Given the description of an element on the screen output the (x, y) to click on. 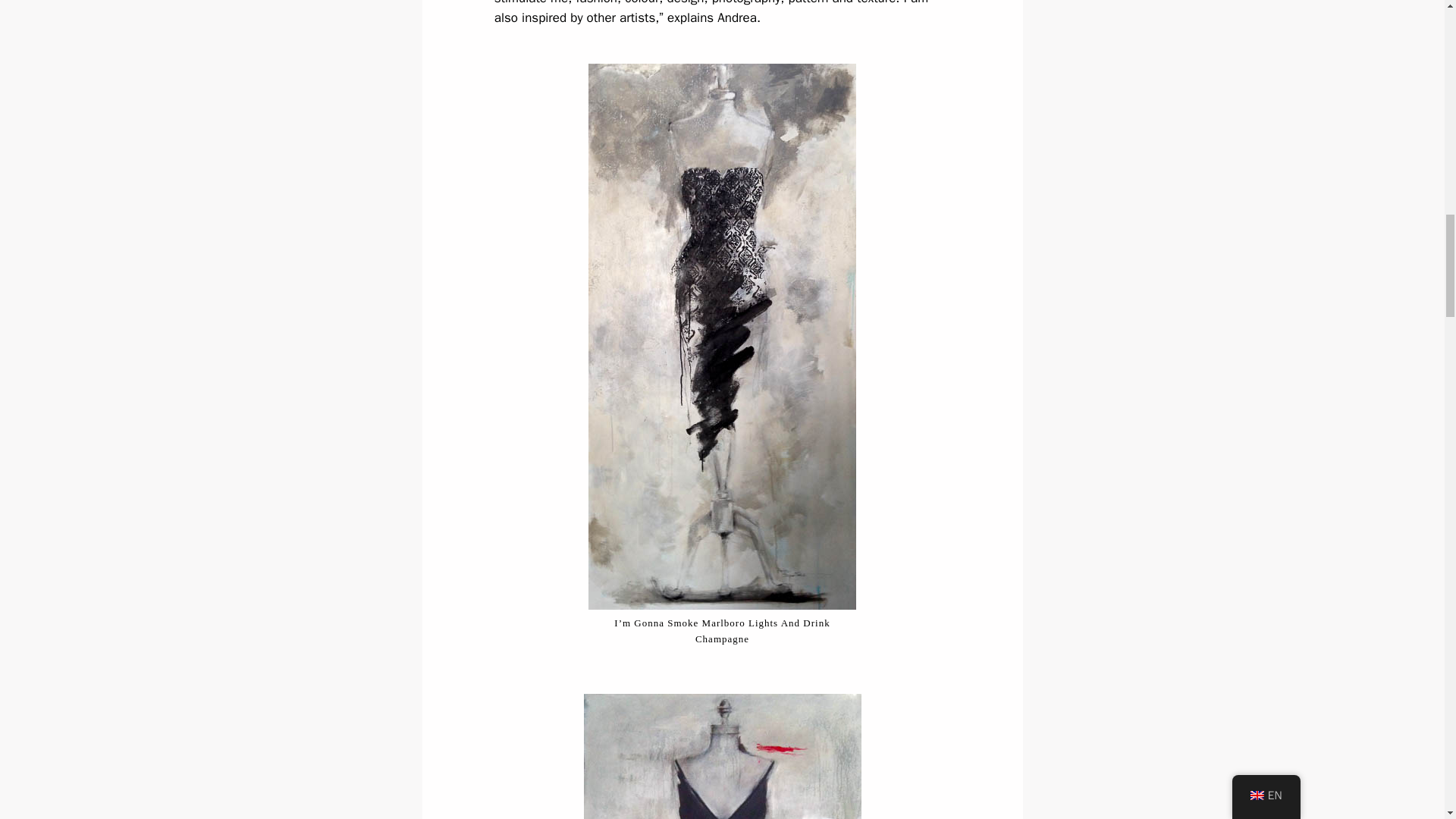
Andrea Stajan-Ferkul: Fashion and Art Collusion (722, 756)
